Given the description of an element on the screen output the (x, y) to click on. 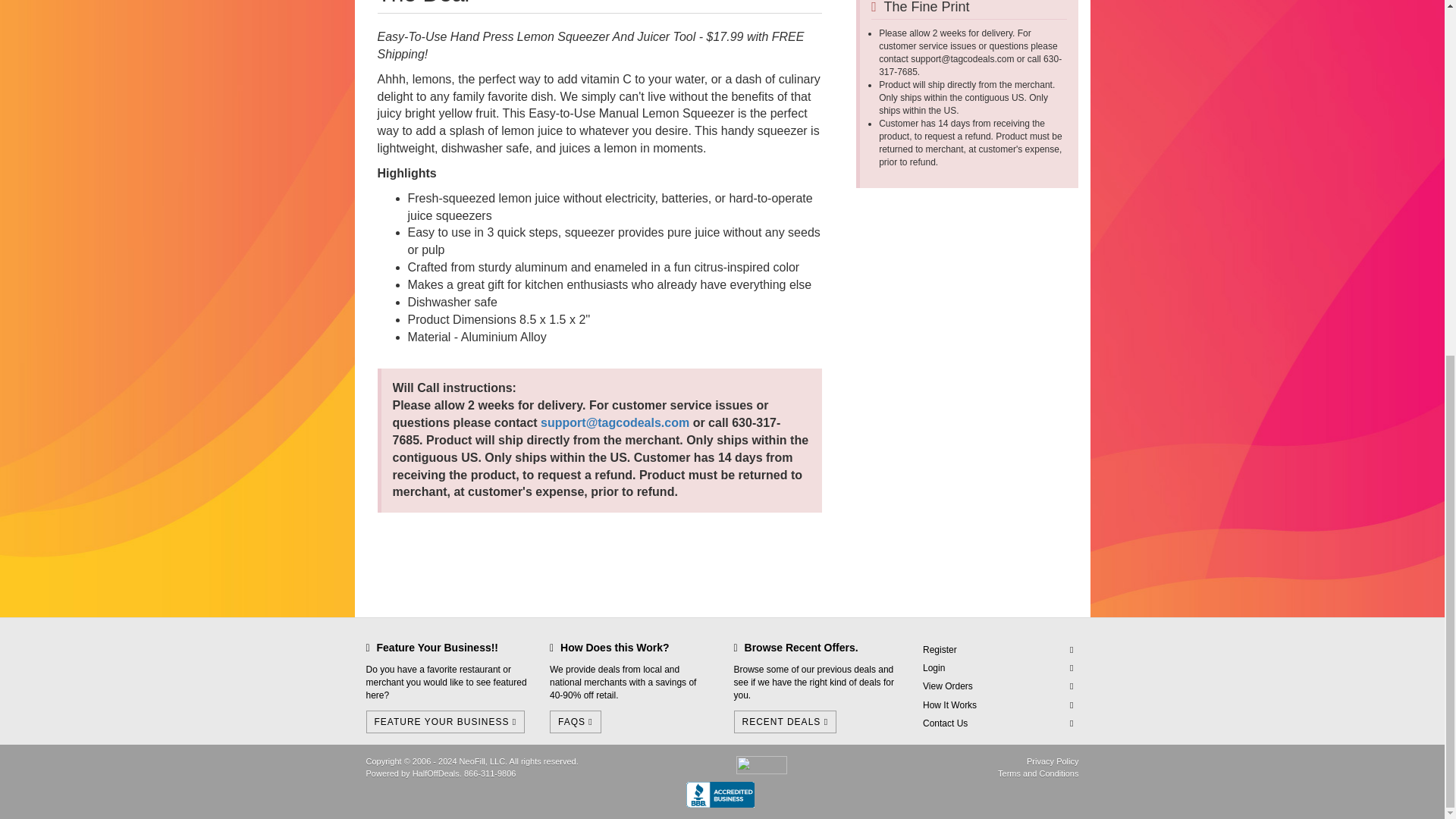
FAQS (575, 721)
Login (997, 668)
Register (997, 650)
FEATURE YOUR BUSINESS (444, 721)
NEOFILL LLC BBB Business Review (719, 791)
RECENT DEALS (785, 721)
